Given the description of an element on the screen output the (x, y) to click on. 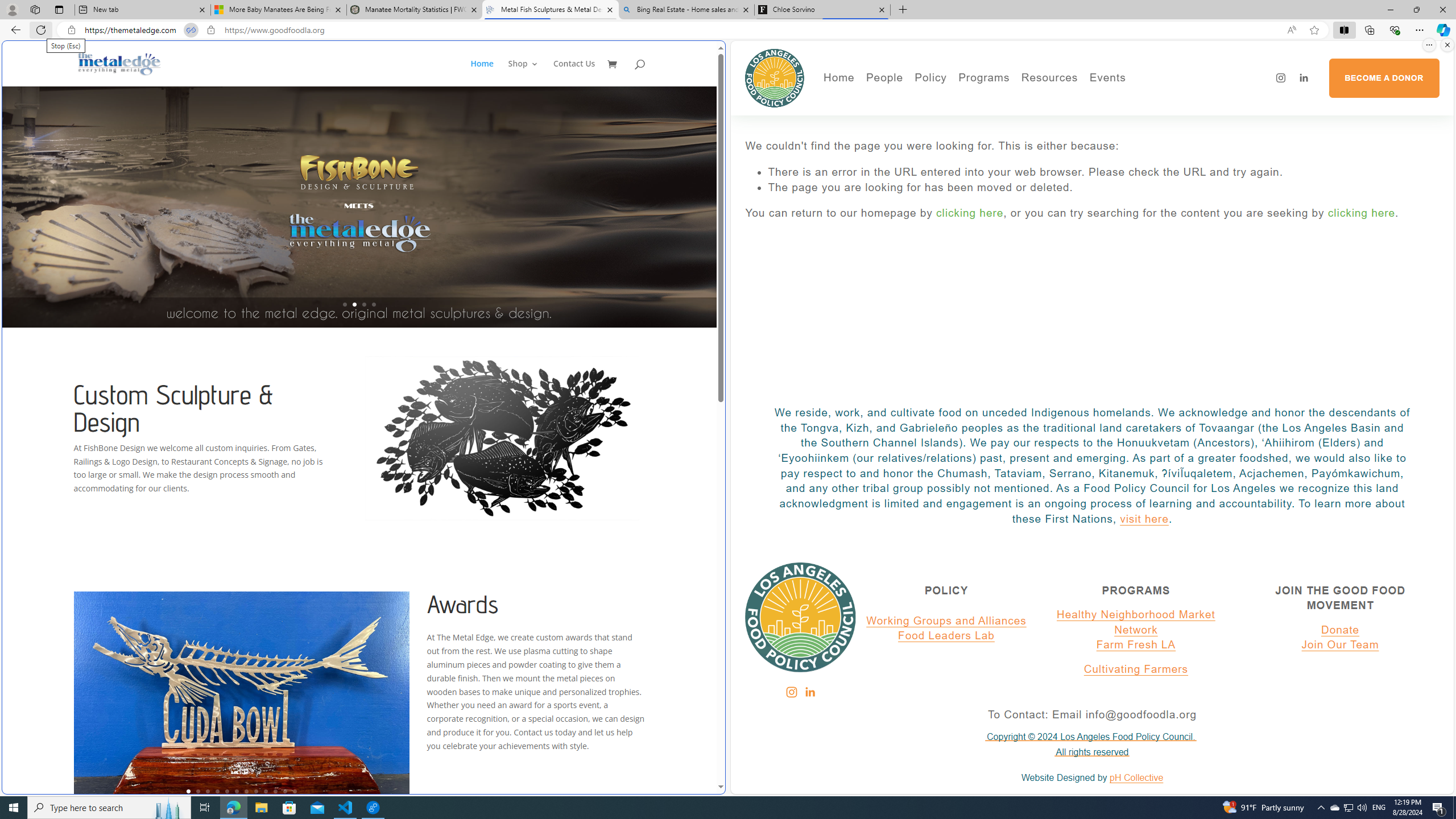
1 (188, 790)
8 (255, 790)
Food Leaders Lab (946, 636)
BECOME A DONOR (1383, 77)
Healthy Neighborhood Market Network (1135, 622)
Shop 3 (523, 72)
2 (198, 790)
